Given the description of an element on the screen output the (x, y) to click on. 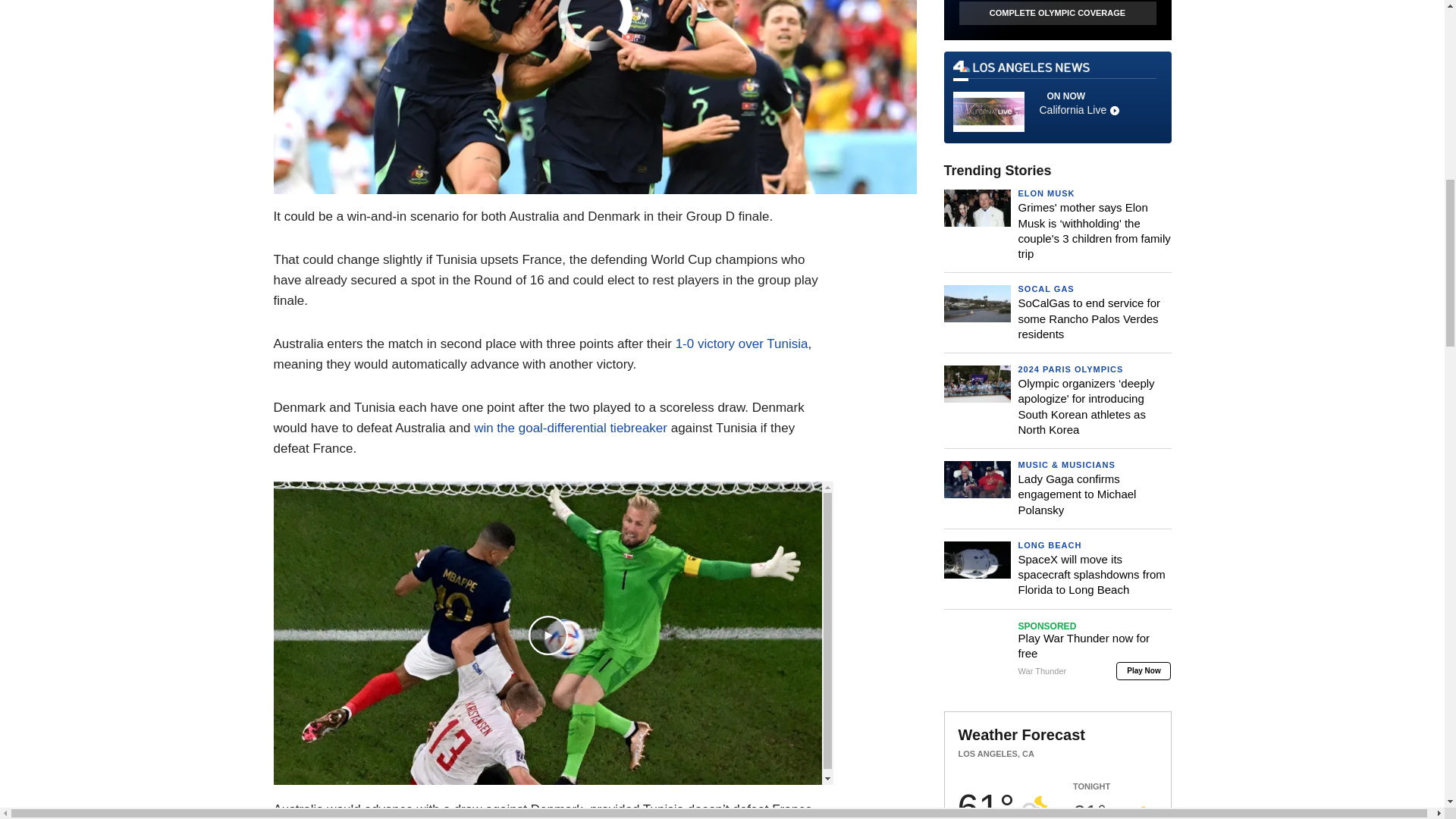
win the goal-differential tiebreaker (570, 427)
1-0 victory over Tunisia (741, 343)
